Given the description of an element on the screen output the (x, y) to click on. 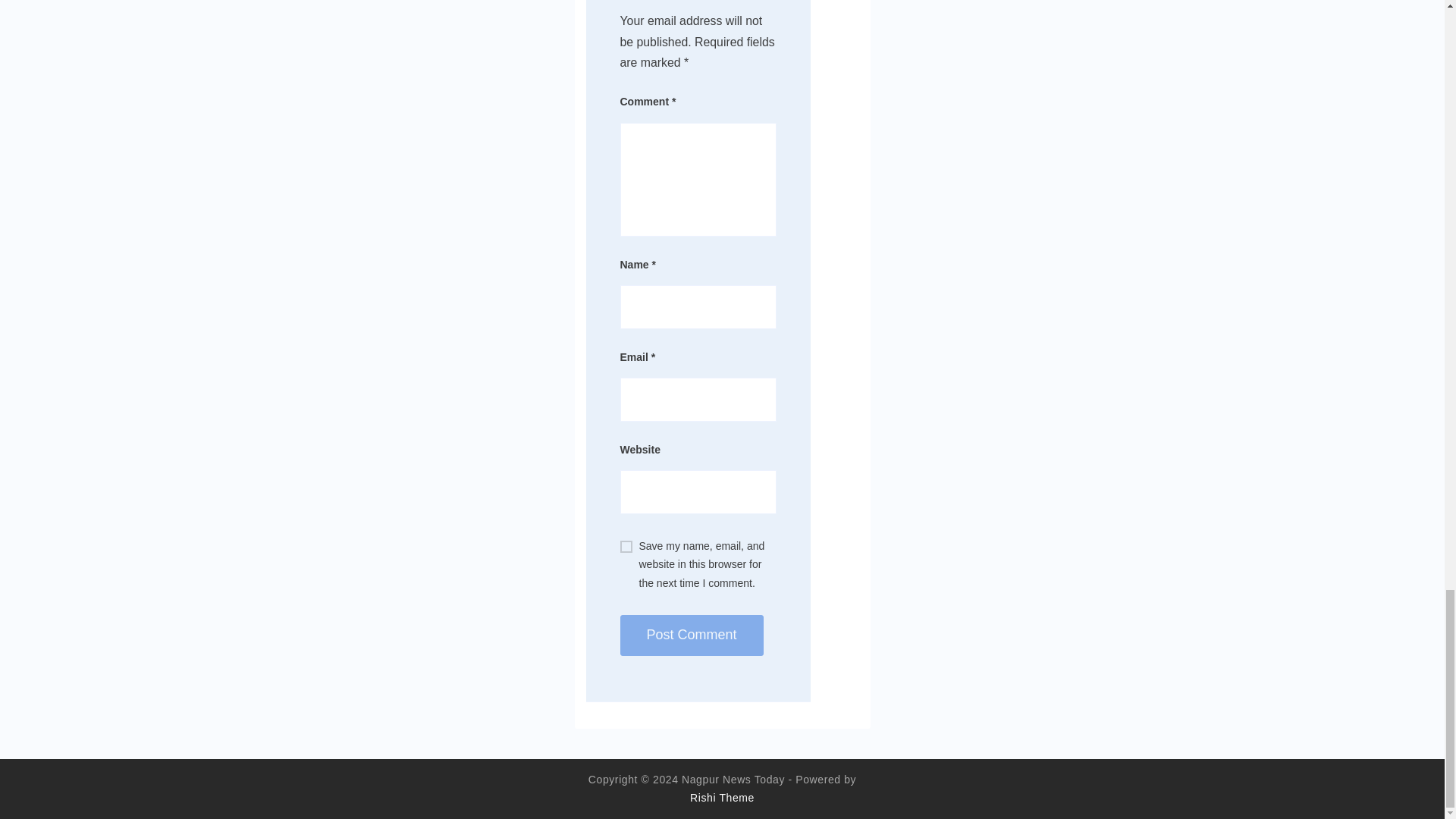
Post Comment (691, 635)
